Given the description of an element on the screen output the (x, y) to click on. 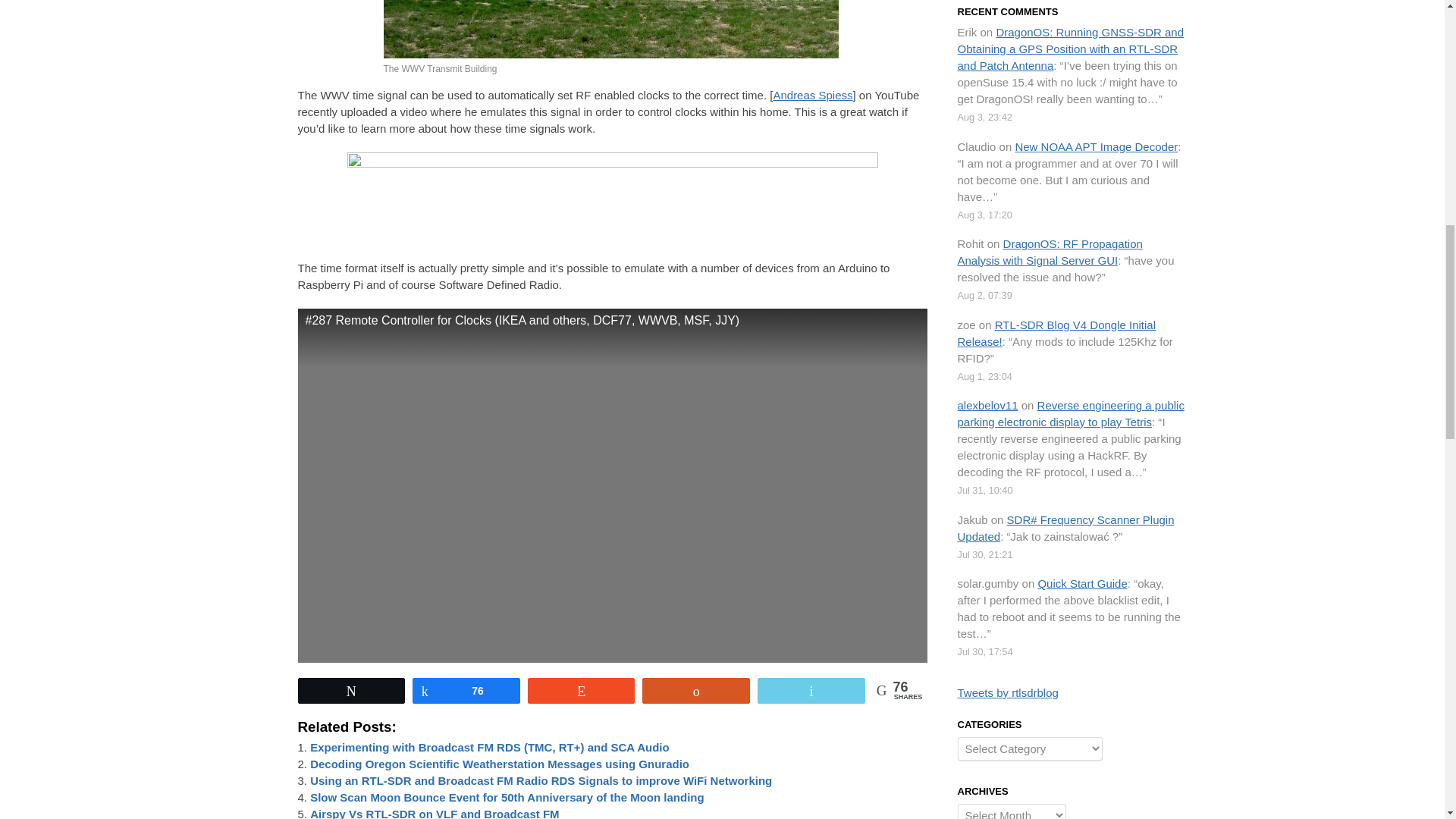
Airspy Vs RTL-SDR on VLF and Broadcast FM (434, 813)
